Given the description of an element on the screen output the (x, y) to click on. 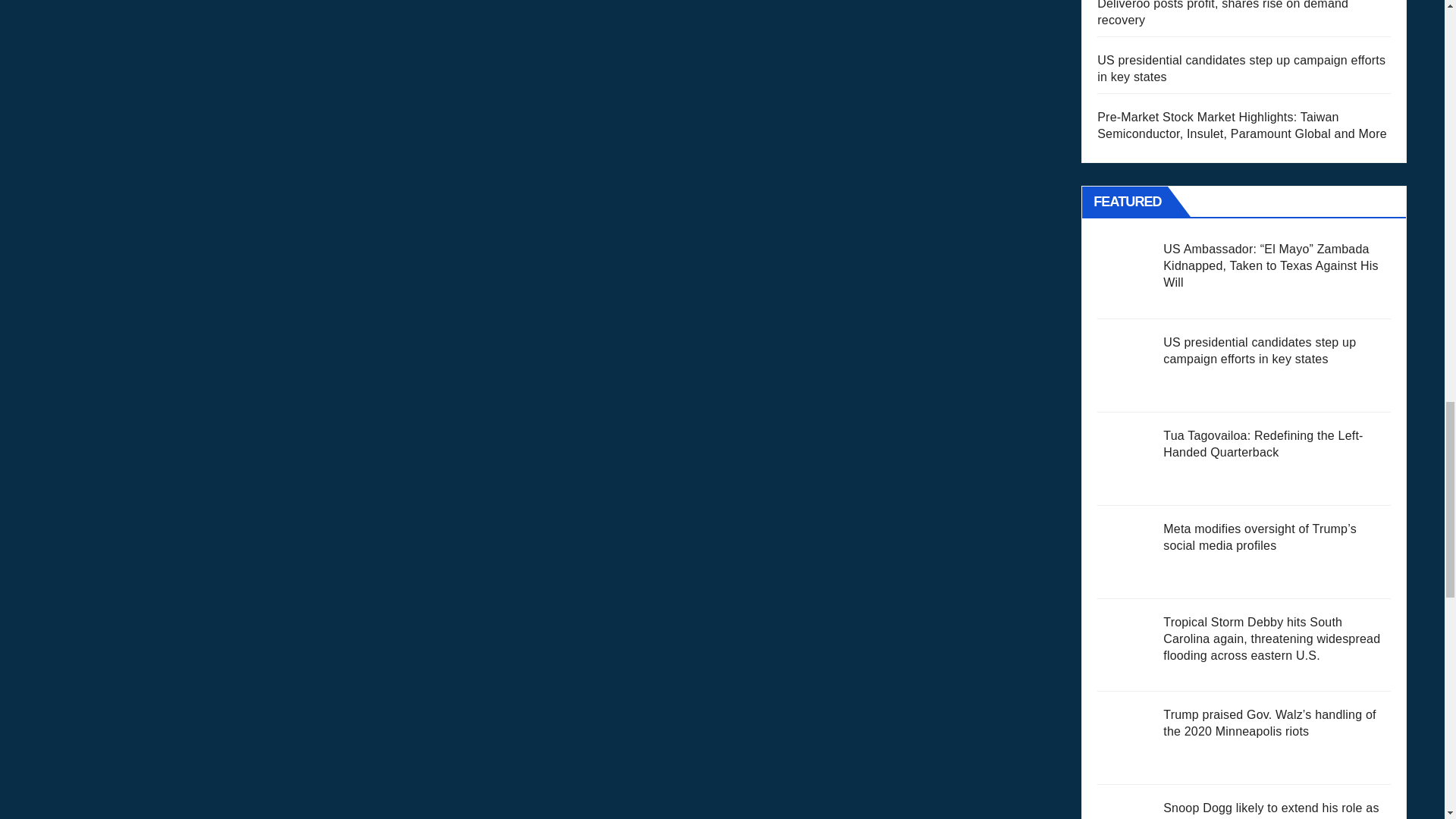
Tua Tagovailoa: Redefining the Left-Handed Quarterback (1125, 459)
